Given the description of an element on the screen output the (x, y) to click on. 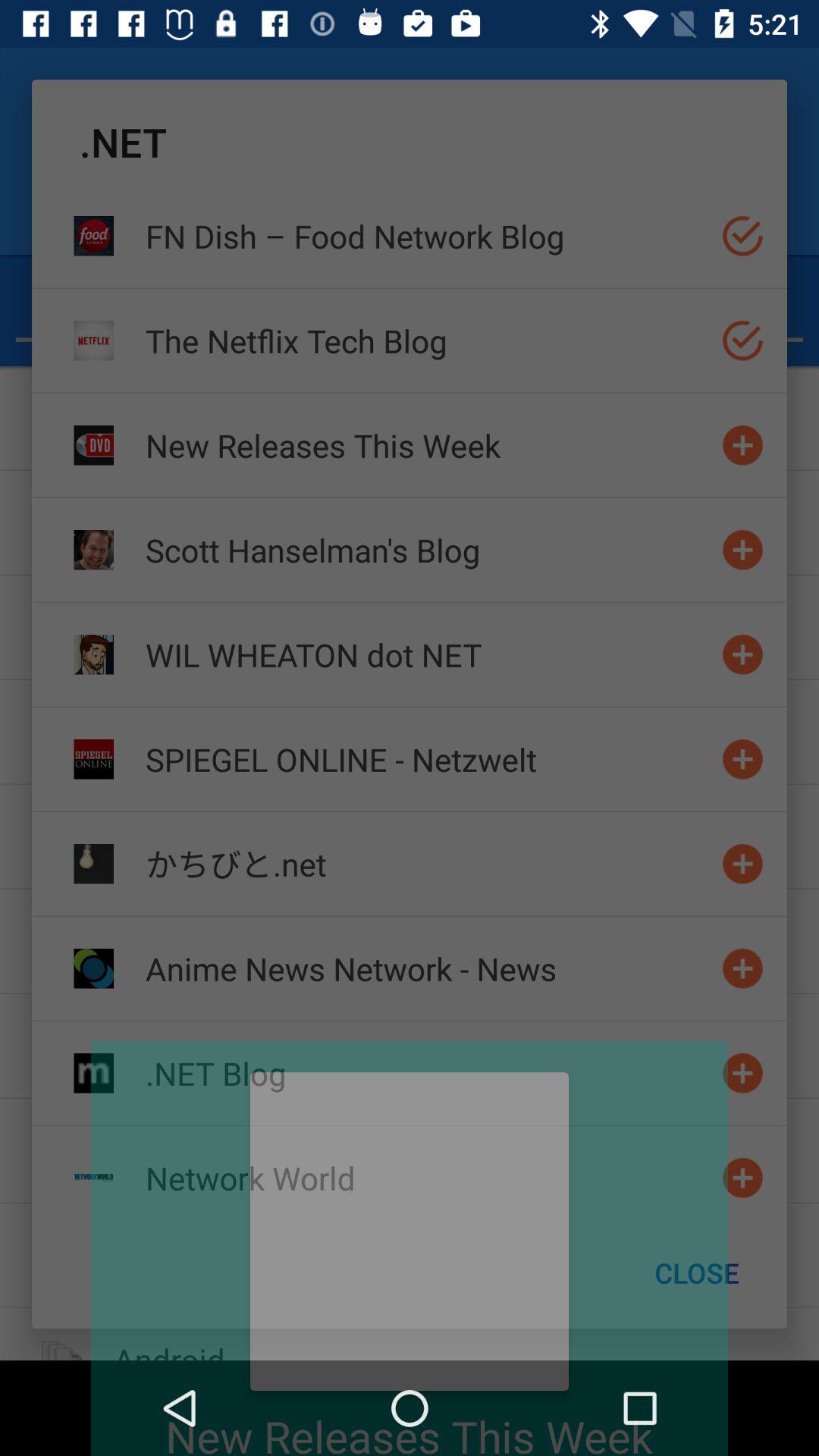
jump to the scott hanselman s icon (426, 549)
